Given the description of an element on the screen output the (x, y) to click on. 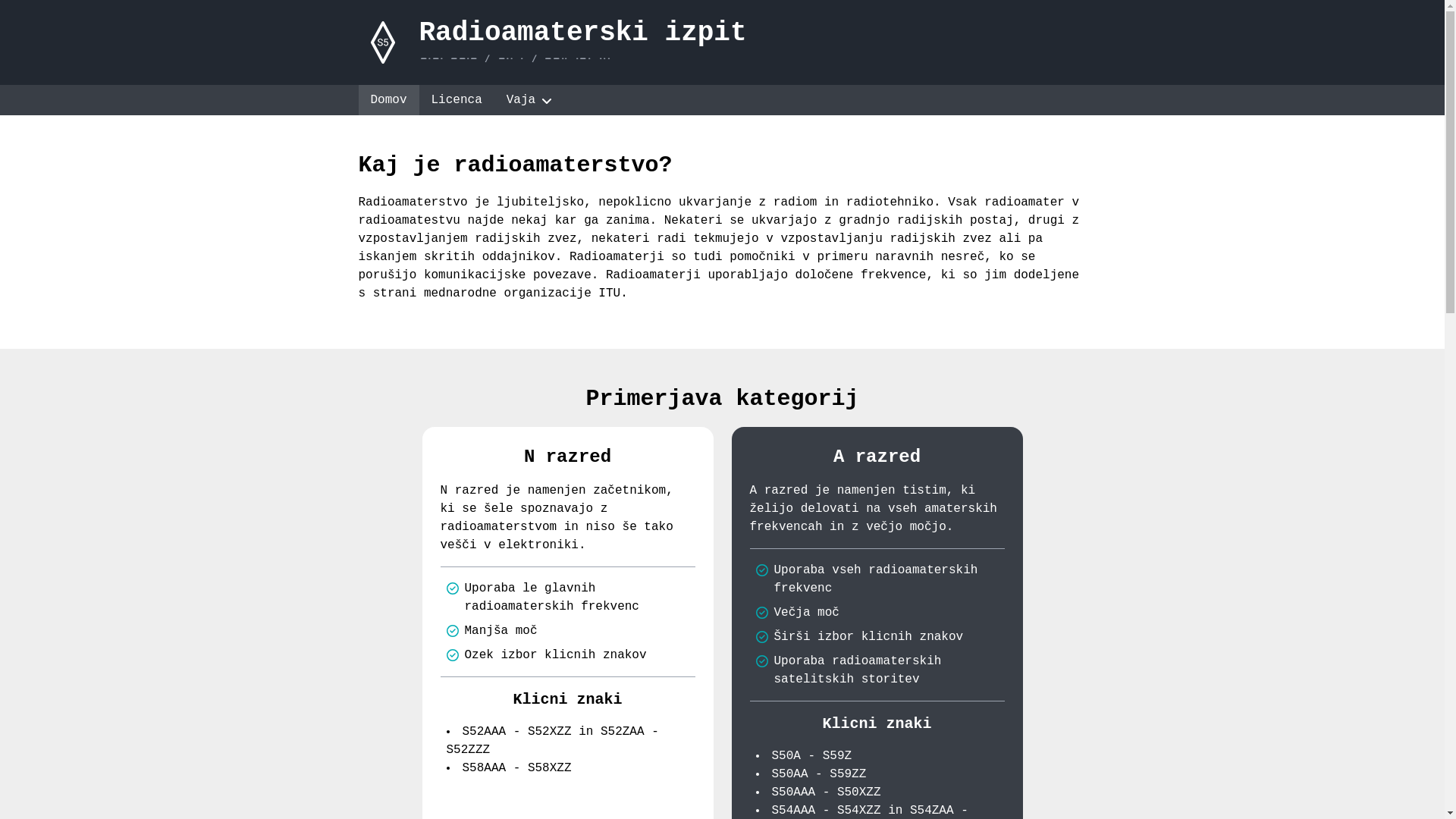
Vaja Element type: text (529, 99)
Radioamaterski izpit Element type: text (582, 33)
Licenca Element type: text (456, 99)
Domov Element type: text (387, 99)
